Given the description of an element on the screen output the (x, y) to click on. 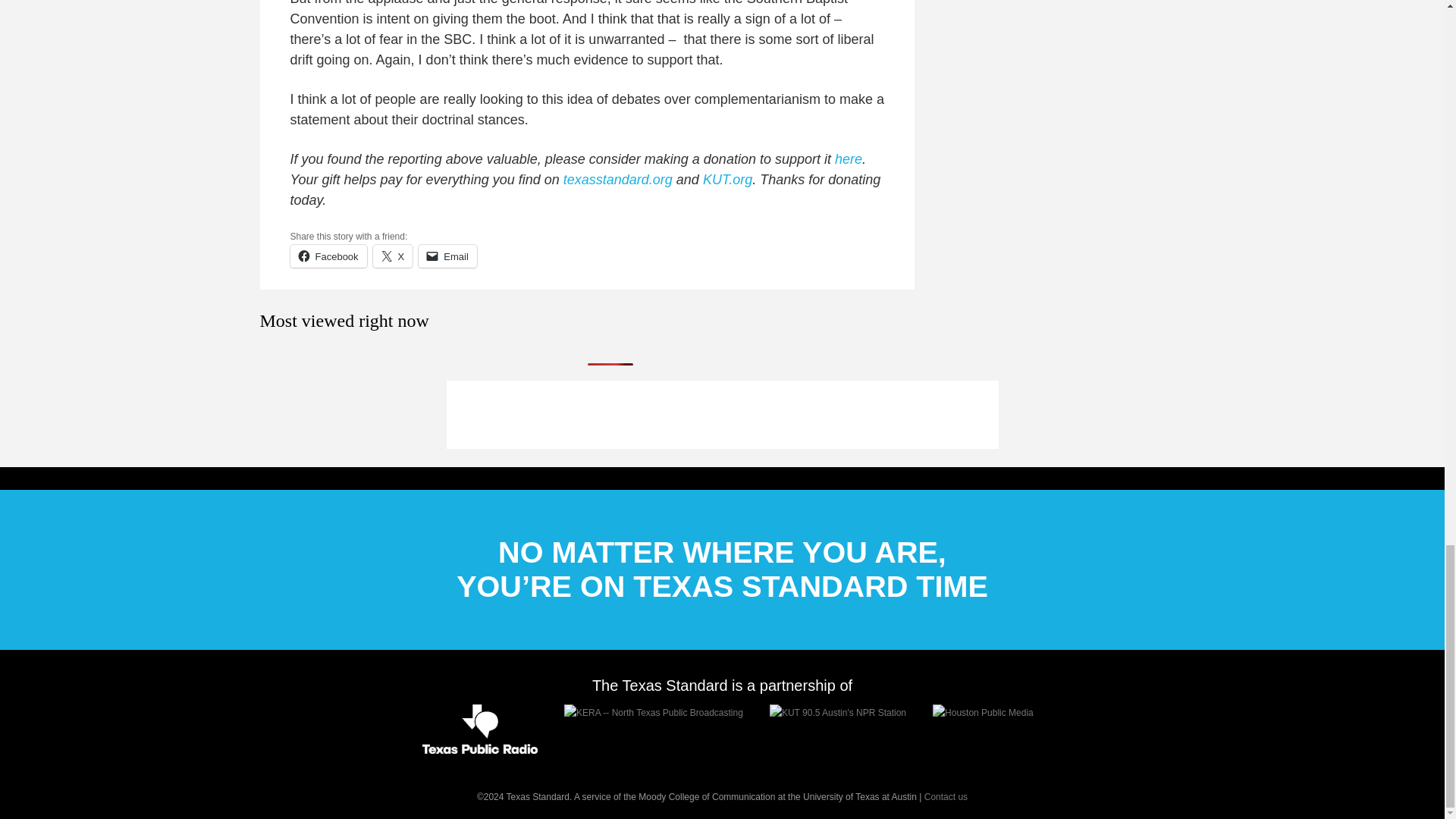
Click to share on X (392, 255)
Click to email a link to a friend (448, 255)
Click to share on Facebook (327, 255)
